Given the description of an element on the screen output the (x, y) to click on. 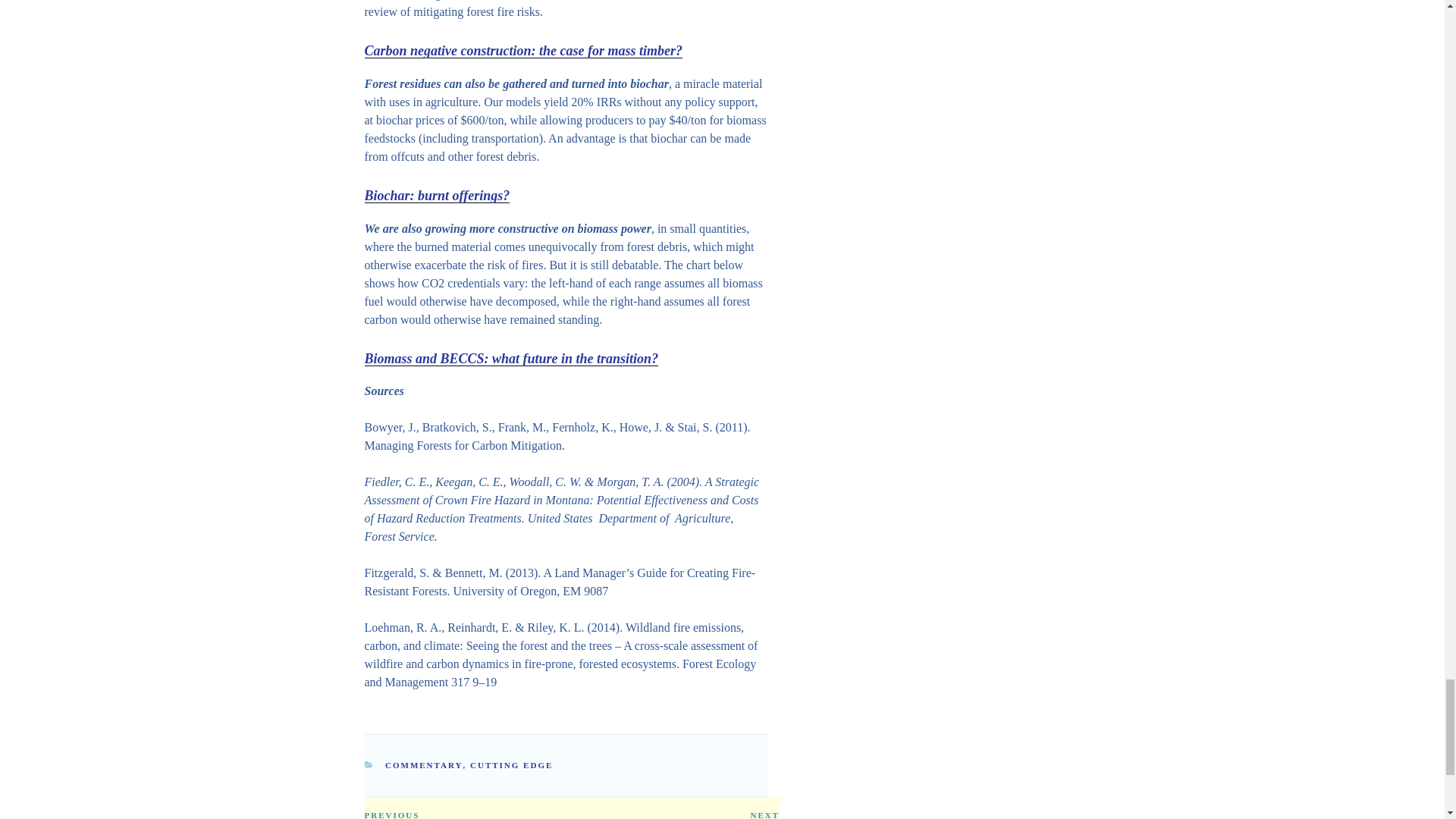
Biochar: burnt offerings? (436, 195)
COMMENTARY (424, 764)
Biomass and BECCS: what future in the transition? (511, 358)
CUTTING EDGE (511, 764)
Carbon negative construction: the case for mass timber? (523, 50)
